Given the description of an element on the screen output the (x, y) to click on. 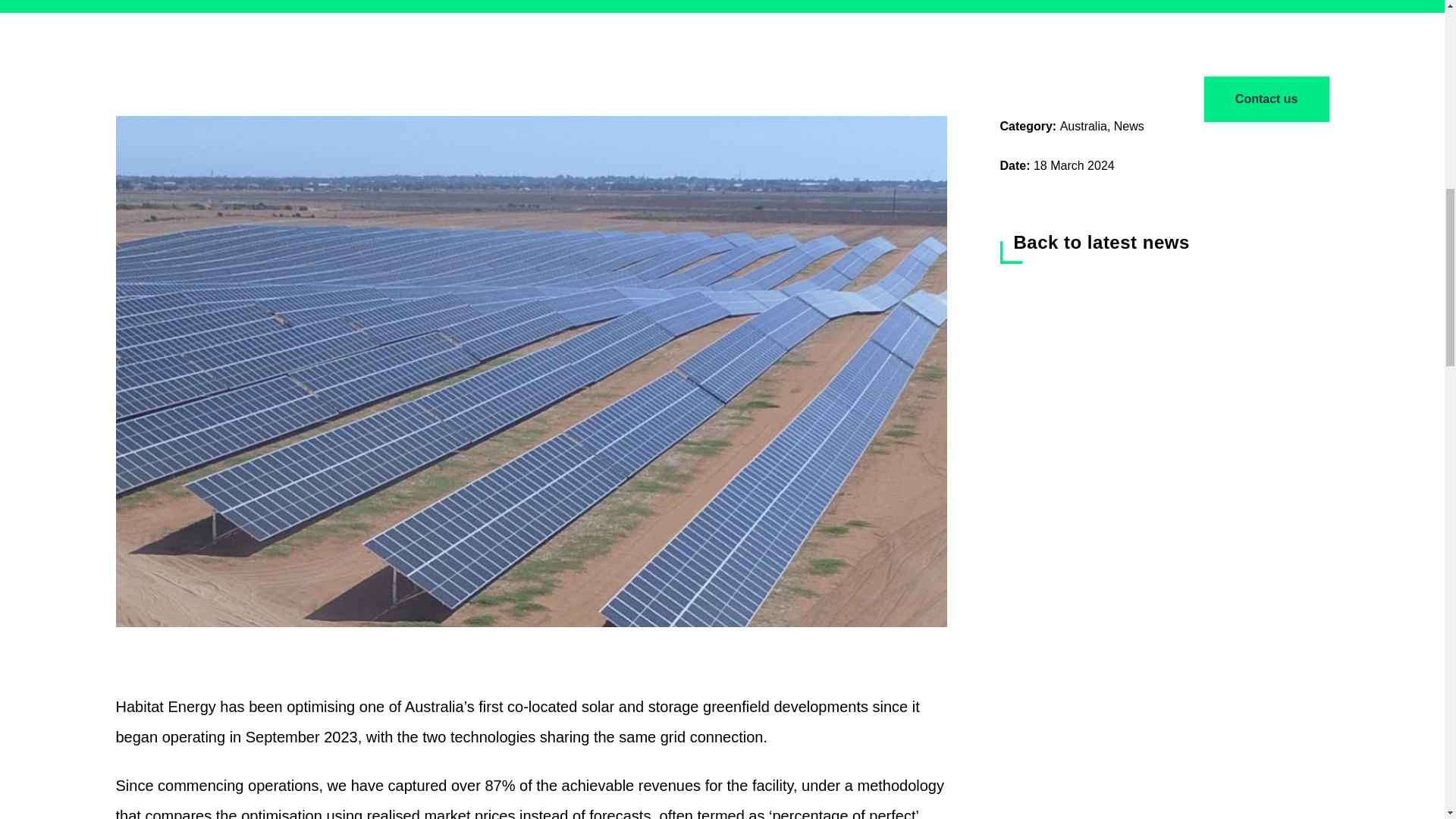
Back to latest news (1093, 246)
